Given the description of an element on the screen output the (x, y) to click on. 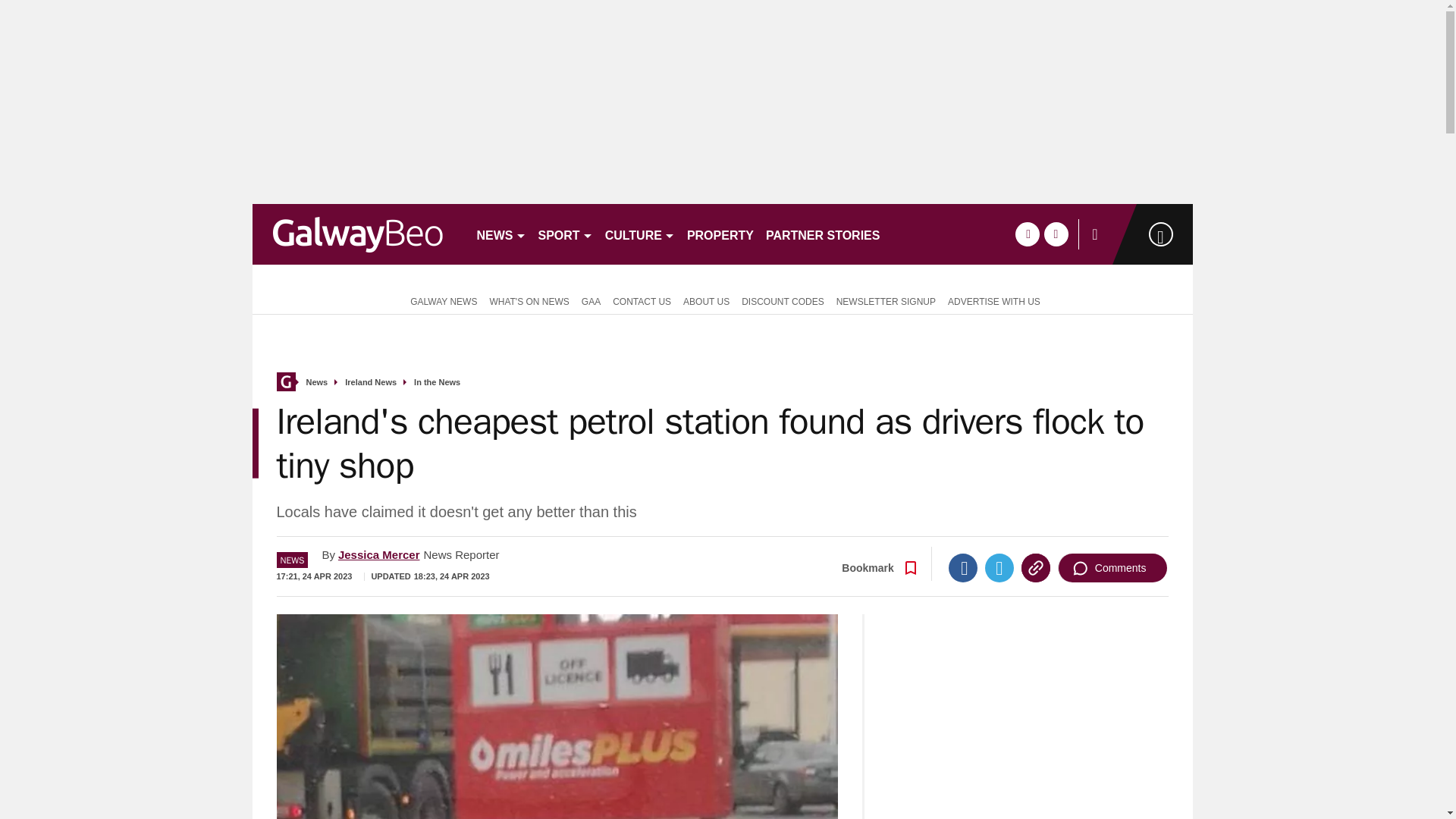
GAA (591, 300)
News (317, 382)
CONTACT US (642, 300)
NEWS (500, 233)
CULTURE (639, 233)
DISCOUNT CODES (782, 300)
GALWAY NEWS (440, 300)
SPORT (565, 233)
Facebook (962, 567)
PARTNER STORIES (823, 233)
galwaybeo (357, 233)
Twitter (999, 567)
facebook (1026, 233)
Comments (1112, 567)
ADVERTISE WITH US (994, 300)
